Given the description of an element on the screen output the (x, y) to click on. 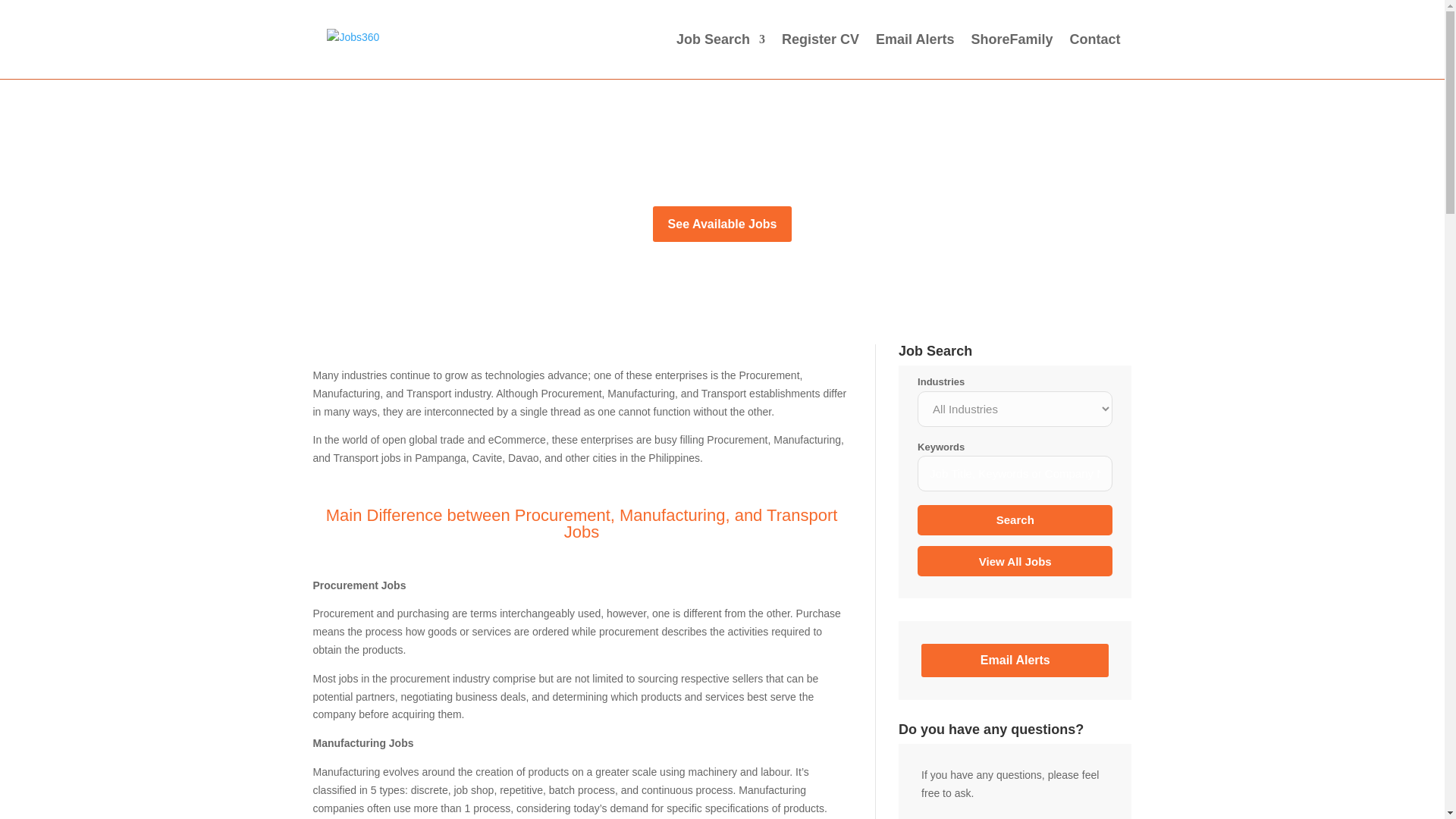
ShoreFamily (1011, 56)
Search (1014, 520)
Search (1014, 520)
Email Alerts (1014, 660)
Register CV (820, 56)
View All Jobs (1014, 561)
Contact (1093, 56)
See Available Jobs (722, 223)
Job Search (721, 56)
Email Alerts (914, 56)
